Given the description of an element on the screen output the (x, y) to click on. 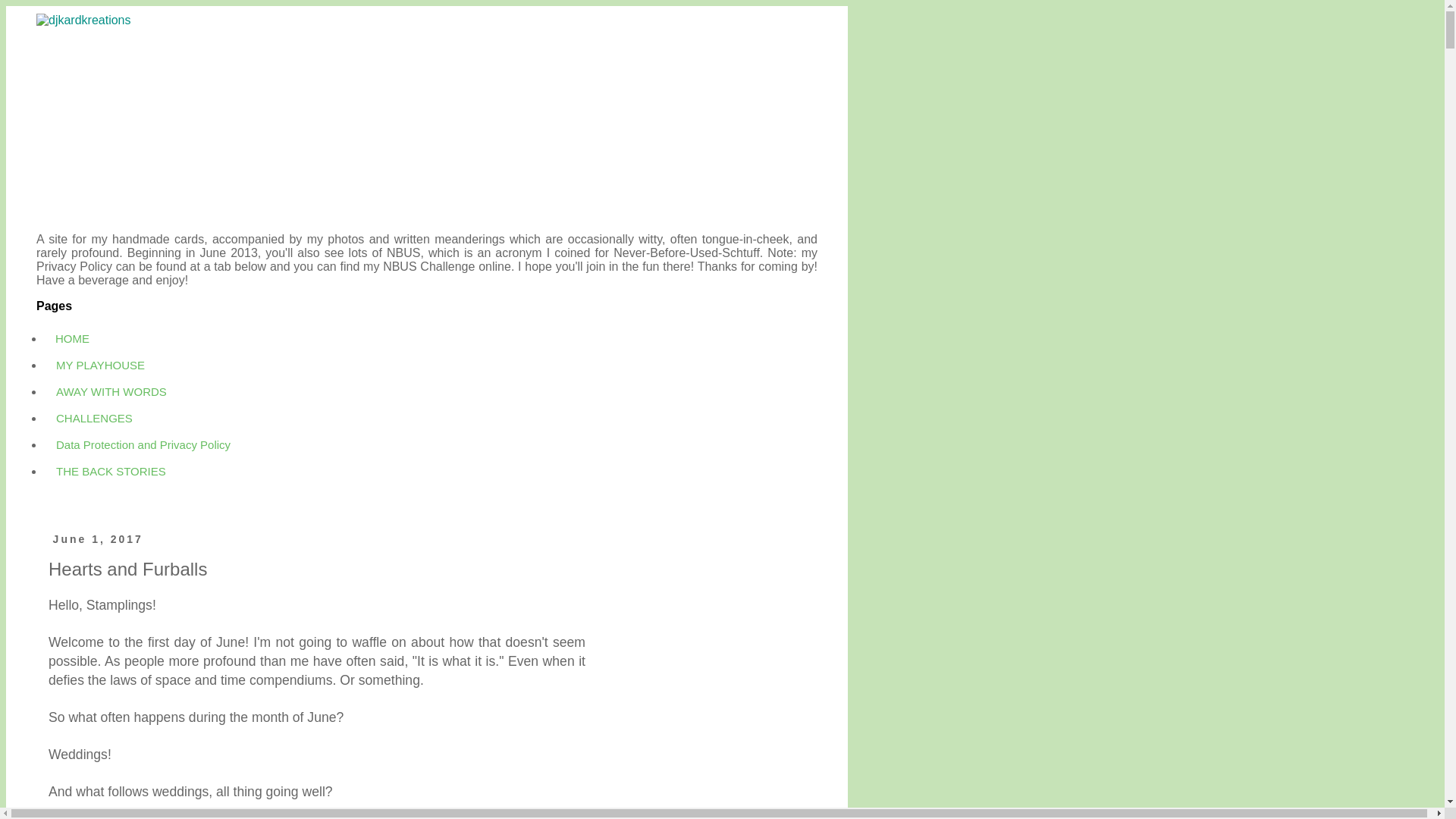
AWAY WITH WORDS (111, 391)
THE BACK STORIES (110, 470)
CHALLENGES (93, 417)
MY PLAYHOUSE (100, 365)
HOME (72, 338)
Data Protection and Privacy Policy (143, 444)
